Given the description of an element on the screen output the (x, y) to click on. 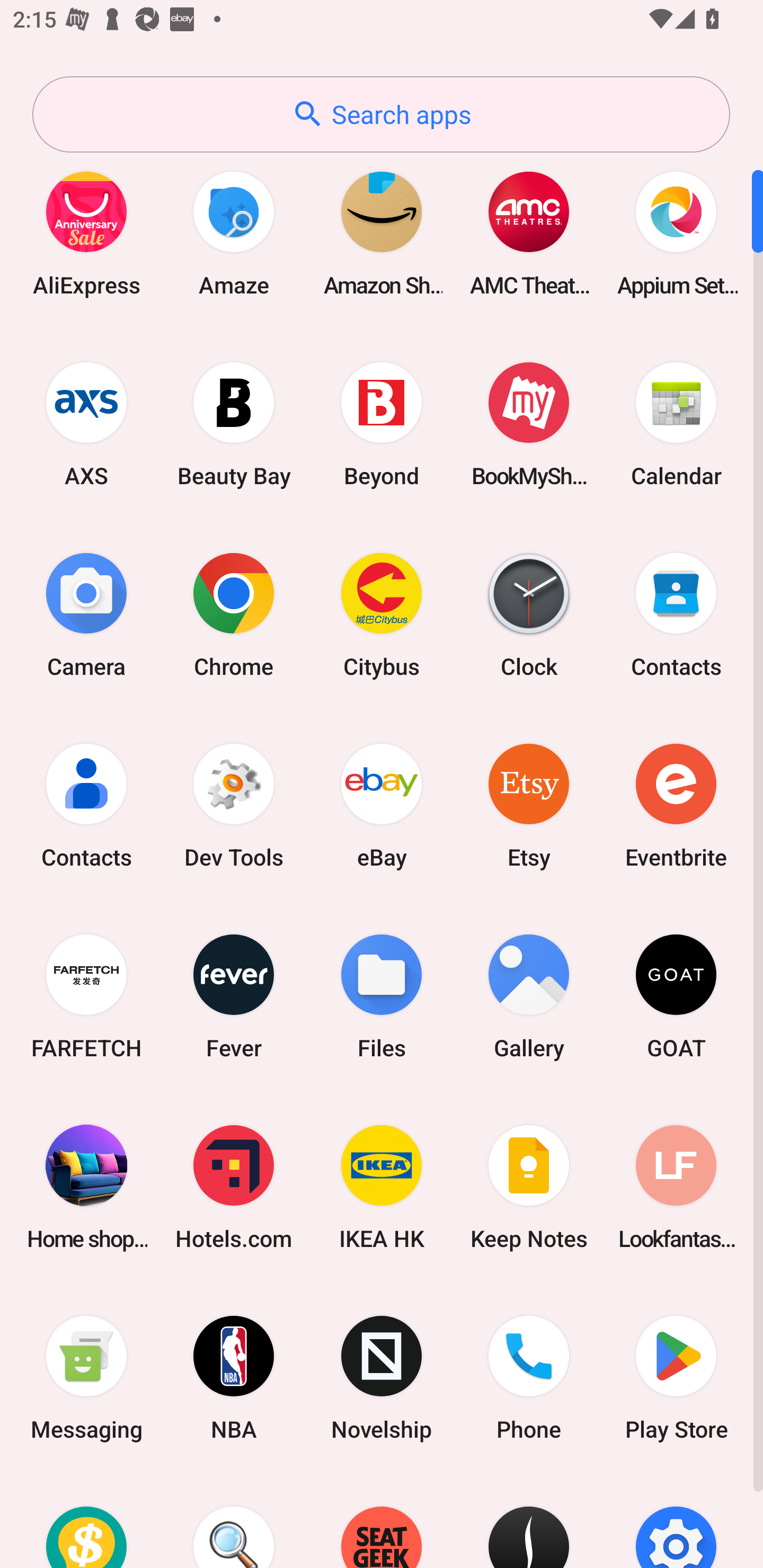
  Search apps (381, 114)
AliExpress (86, 233)
Amaze (233, 233)
Amazon Shopping (381, 233)
AMC Theatres (528, 233)
Appium Settings (676, 233)
AXS (86, 424)
Beauty Bay (233, 424)
Beyond (381, 424)
BookMyShow (528, 424)
Calendar (676, 424)
Camera (86, 614)
Chrome (233, 614)
Citybus (381, 614)
Clock (528, 614)
Contacts (676, 614)
Contacts (86, 805)
Dev Tools (233, 805)
eBay (381, 805)
Etsy (528, 805)
Eventbrite (676, 805)
FARFETCH (86, 996)
Fever (233, 996)
Files (381, 996)
Gallery (528, 996)
GOAT (676, 996)
Home shopping (86, 1186)
Hotels.com (233, 1186)
IKEA HK (381, 1186)
Keep Notes (528, 1186)
Lookfantastic (676, 1186)
Messaging (86, 1377)
NBA (233, 1377)
Novelship (381, 1377)
Phone (528, 1377)
Play Store (676, 1377)
